Given the description of an element on the screen output the (x, y) to click on. 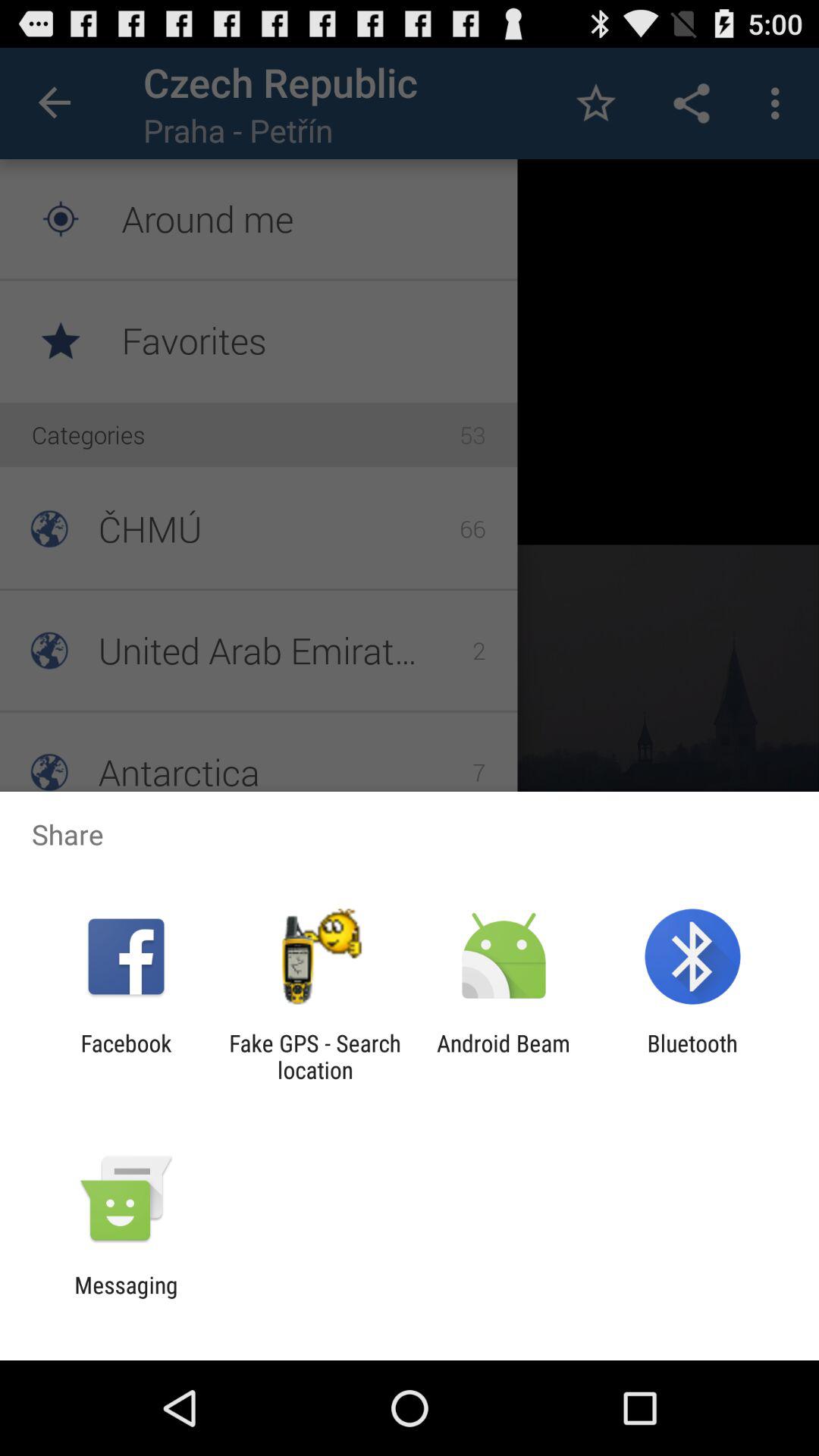
flip until facebook icon (125, 1056)
